Given the description of an element on the screen output the (x, y) to click on. 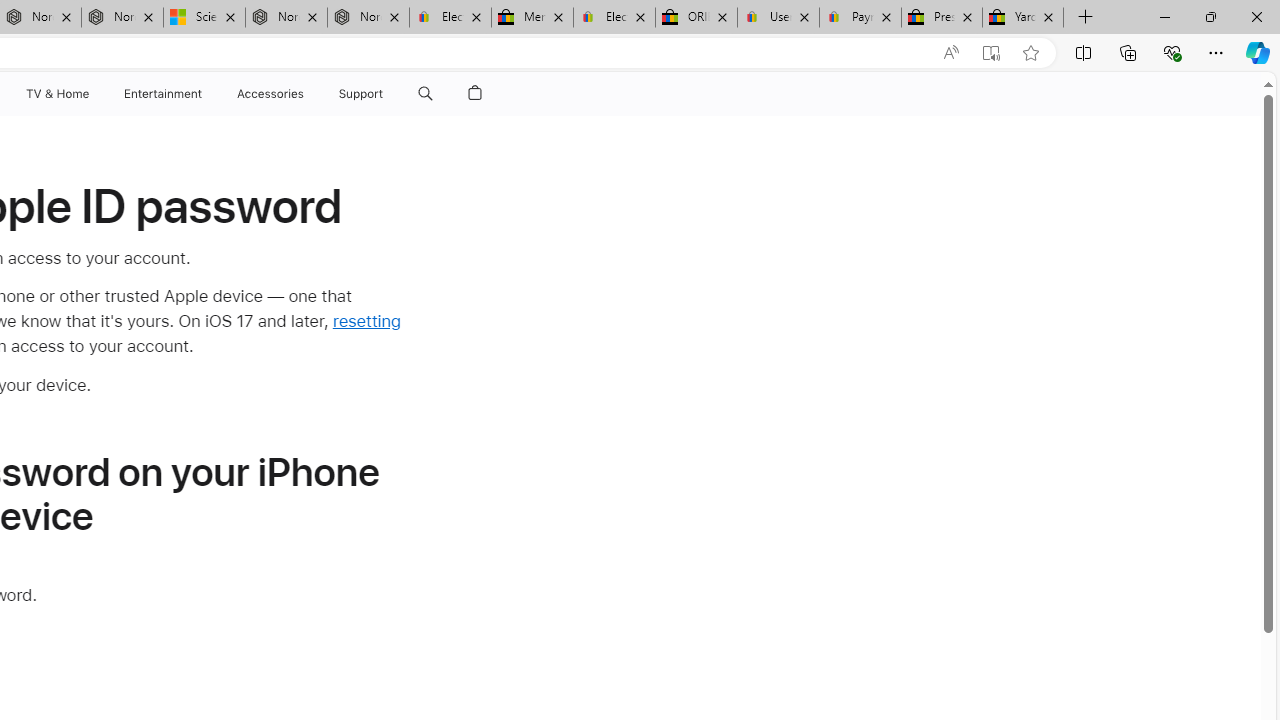
TV and Home menu (92, 93)
Accessories menu (306, 93)
Accessories (269, 93)
TV and Home (56, 93)
Accessories (269, 93)
